Given the description of an element on the screen output the (x, y) to click on. 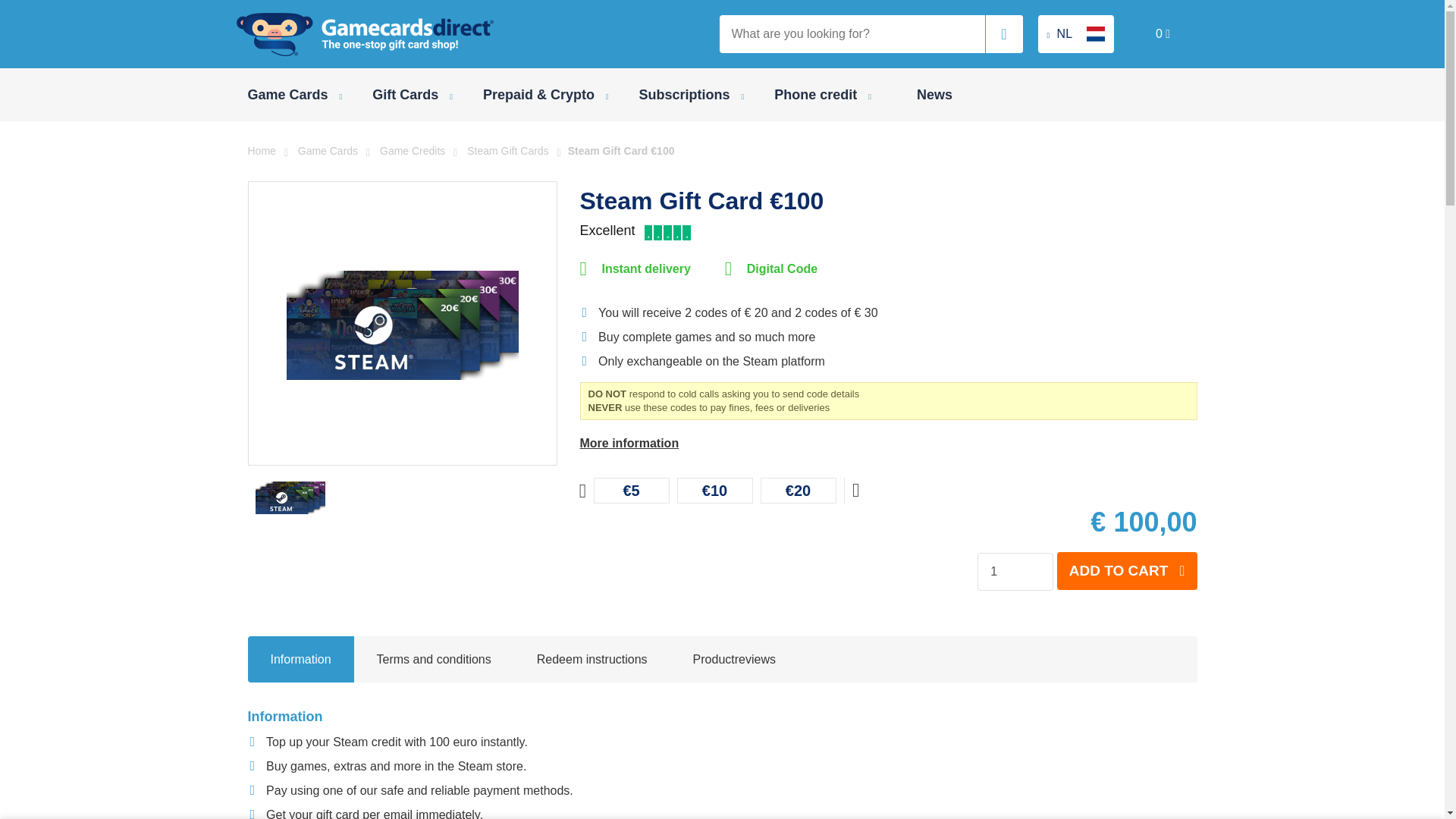
0 (1162, 33)
1 (1014, 571)
Game Cards (294, 94)
Gamecards Direct (365, 33)
Game Cards (294, 94)
